Given the description of an element on the screen output the (x, y) to click on. 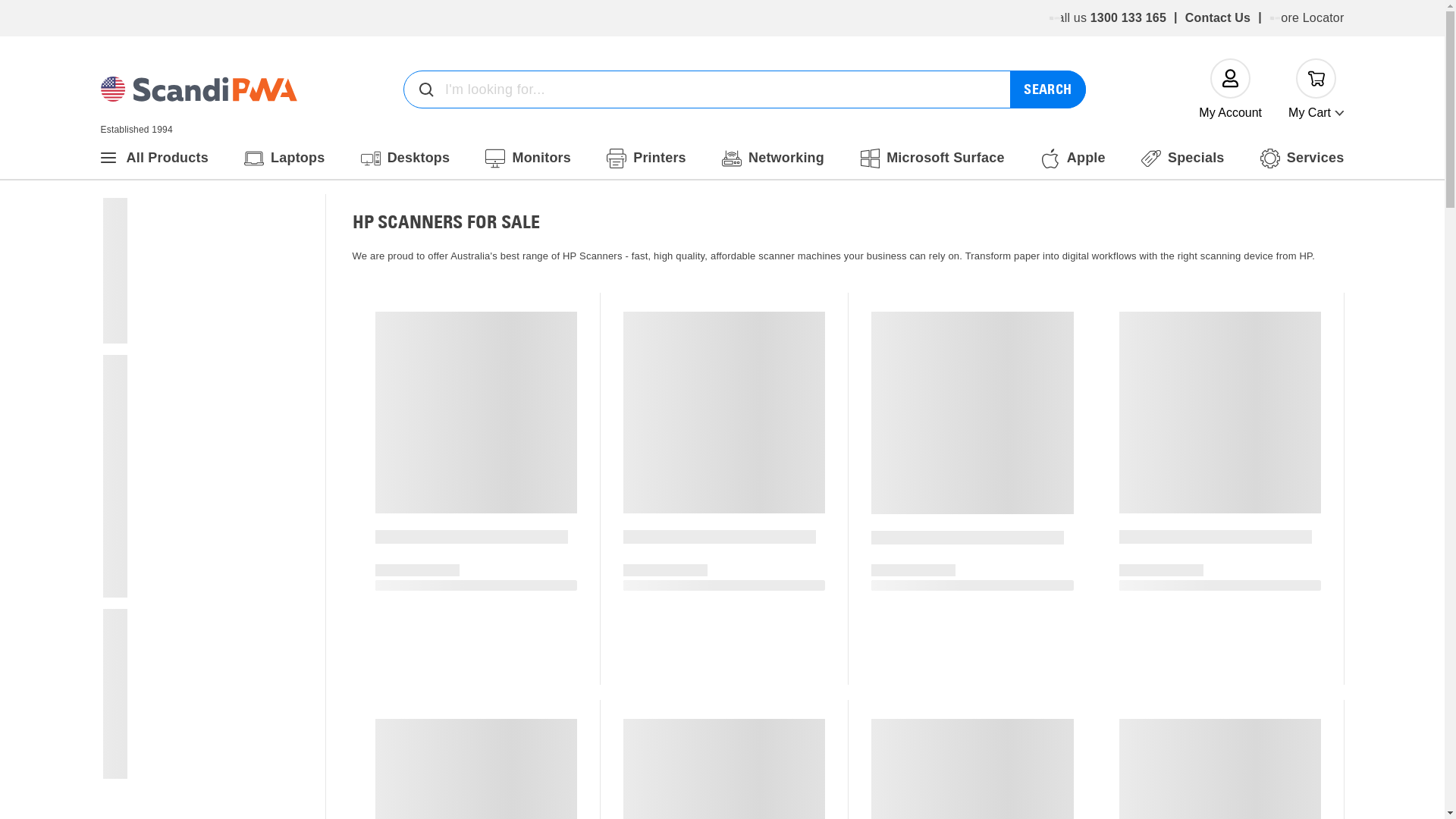
Contact Us Element type: text (1217, 18)
Store Locator Element type: text (1306, 18)
Call us 1300 133 165 Element type: text (1107, 18)
My Account Element type: text (1229, 88)
placeholder Element type: hover (1054, 18)
placeholder Element type: hover (1275, 18)
My Cart Element type: text (1315, 88)
